Given the description of an element on the screen output the (x, y) to click on. 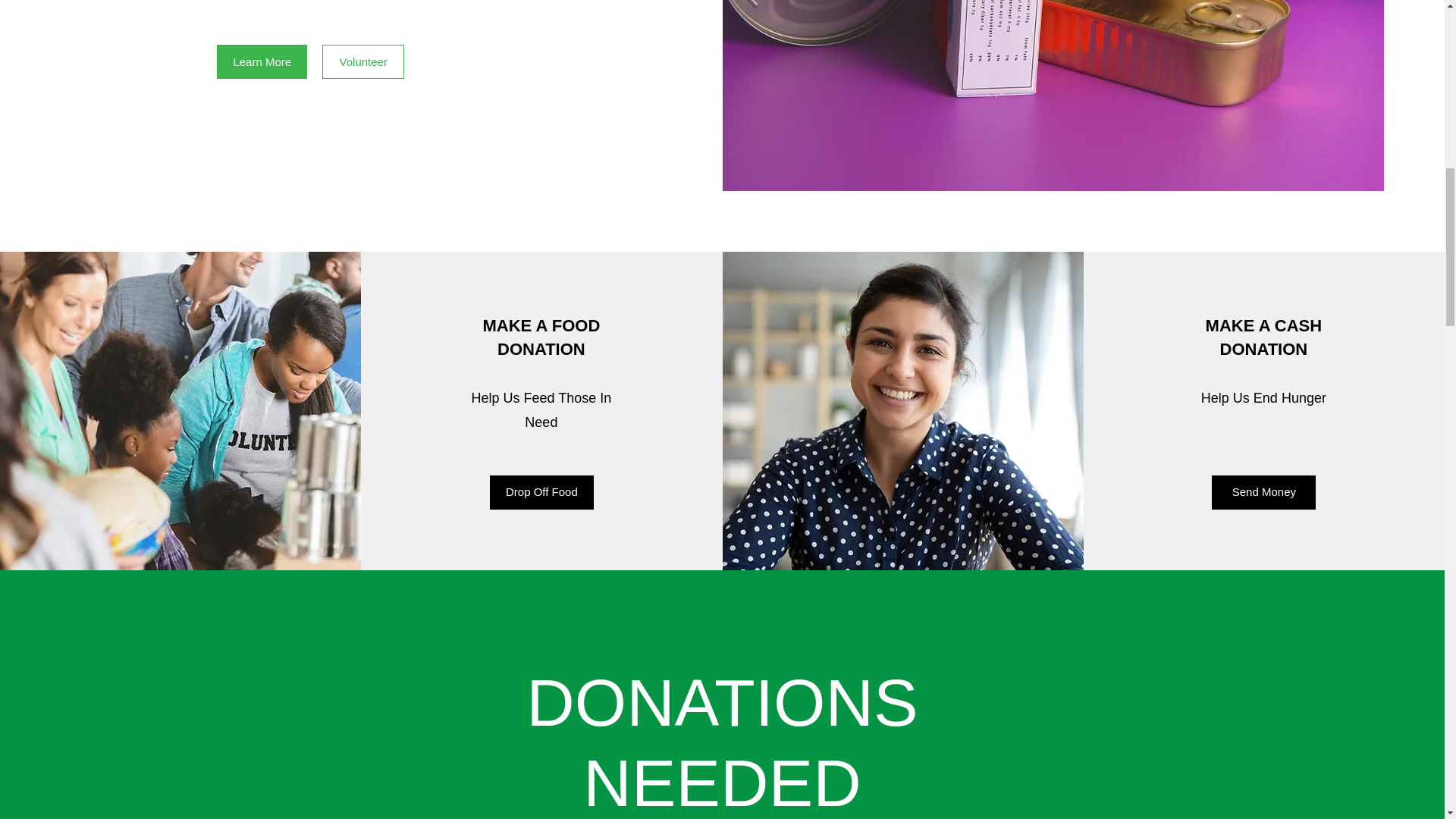
Learn More (261, 61)
Volunteer (362, 61)
Send Money (1263, 492)
Drop Off Food (541, 492)
